Given the description of an element on the screen output the (x, y) to click on. 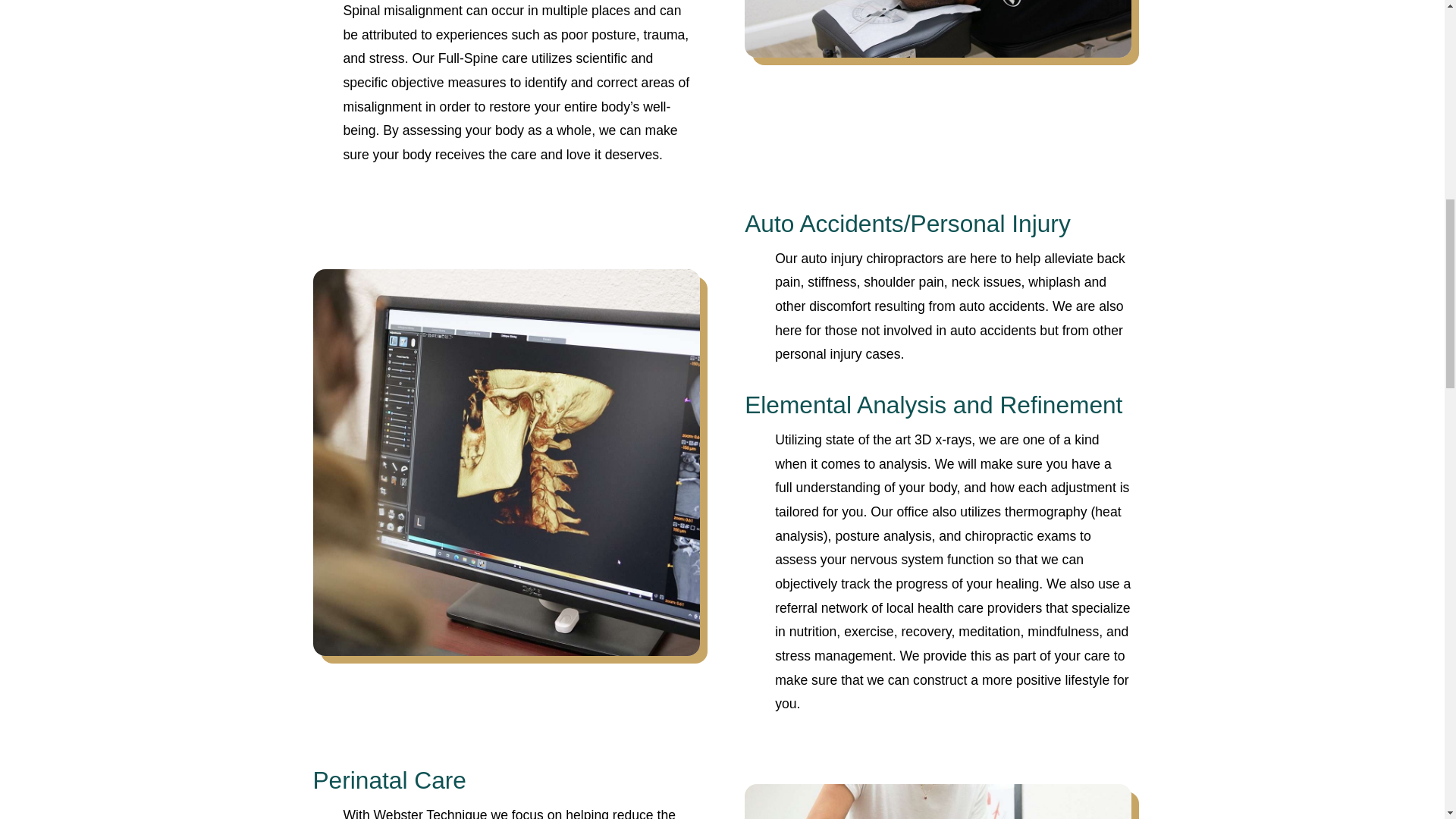
services2 (937, 28)
Sash pelvis check (937, 801)
